Given the description of an element on the screen output the (x, y) to click on. 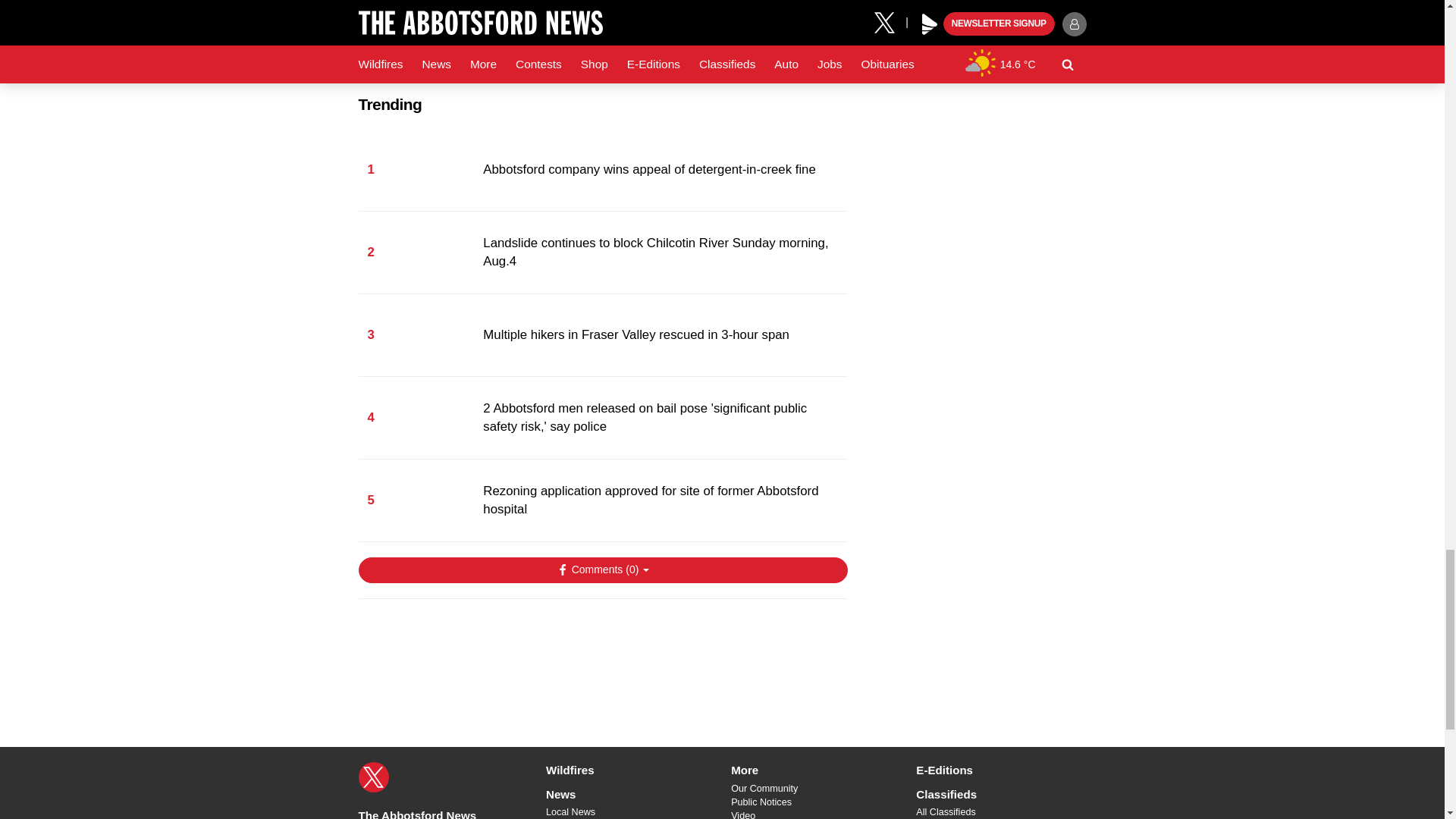
Show Comments (602, 570)
X (373, 777)
